Given the description of an element on the screen output the (x, y) to click on. 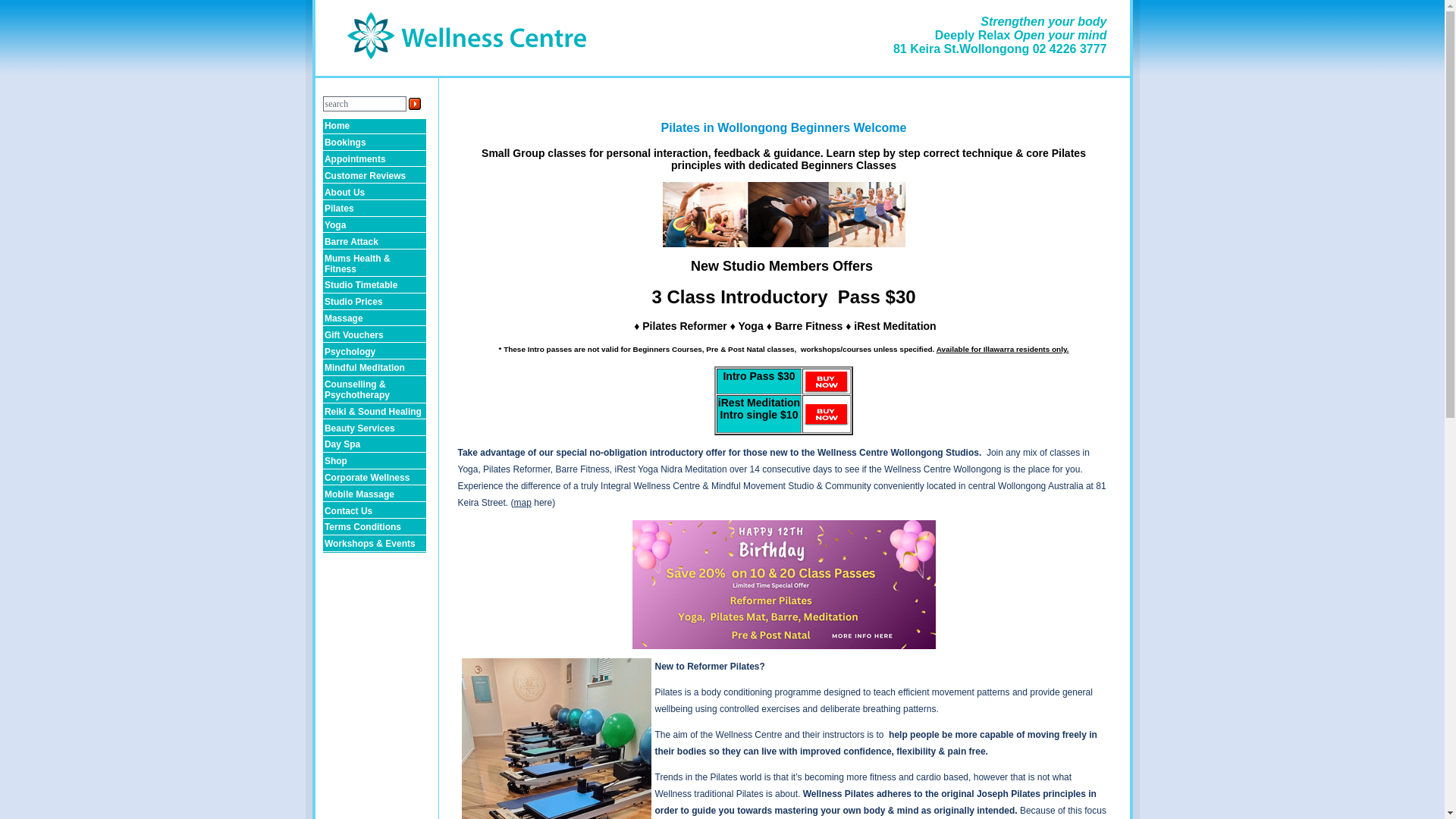
go to home page Element type: hover (466, 72)
Bookings Element type: text (374, 142)
About Us Element type: text (374, 192)
Beauty Services Element type: text (374, 428)
Reiki & Sound Healing Element type: text (374, 412)
map Element type: text (522, 502)
Corporate Wellness Element type: text (374, 478)
Gift Vouchers Element type: text (374, 334)
Day Spa Element type: text (374, 444)
Mindful Meditation Element type: text (374, 368)
Yoga Element type: text (374, 225)
Studio Timetable Element type: text (374, 285)
Terms Conditions Element type: text (374, 527)
Home Element type: text (374, 126)
Psychology Element type: text (374, 351)
Customer Reviews Element type: text (374, 175)
Mobile Massage Element type: text (374, 494)
Barre Attack Element type: text (374, 241)
Pilates Element type: text (374, 208)
Counselling & Psychotherapy Element type: text (374, 390)
Workshops & Events Element type: text (374, 544)
Appointments Element type: text (374, 159)
Massage Element type: text (374, 318)
Studio Prices Element type: text (374, 302)
Mums Health & Fitness Element type: text (374, 263)
Shop Element type: text (374, 461)
Contact Us Element type: text (374, 510)
